Given the description of an element on the screen output the (x, y) to click on. 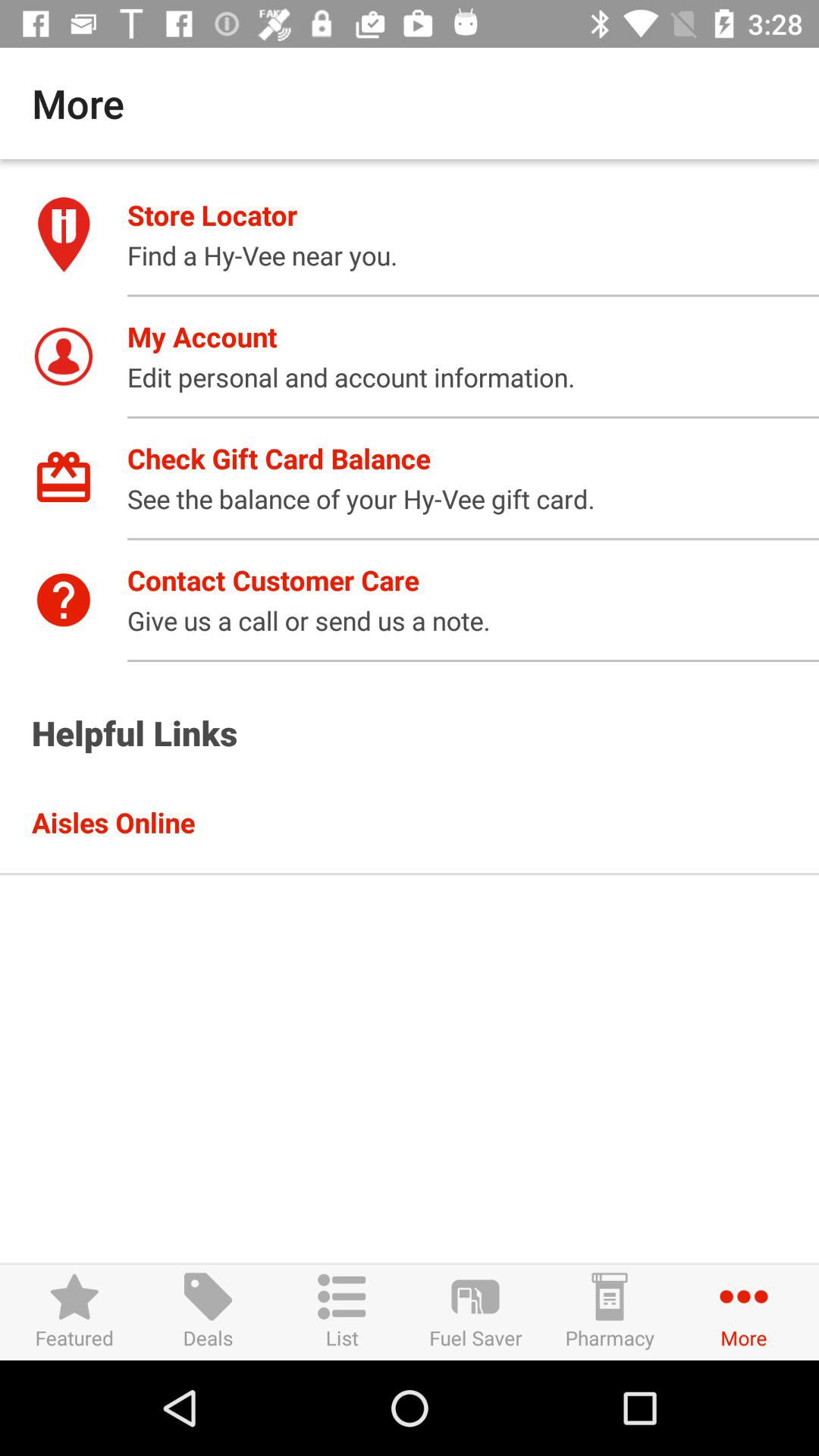
turn on item to the left of deals (74, 1311)
